Given the description of an element on the screen output the (x, y) to click on. 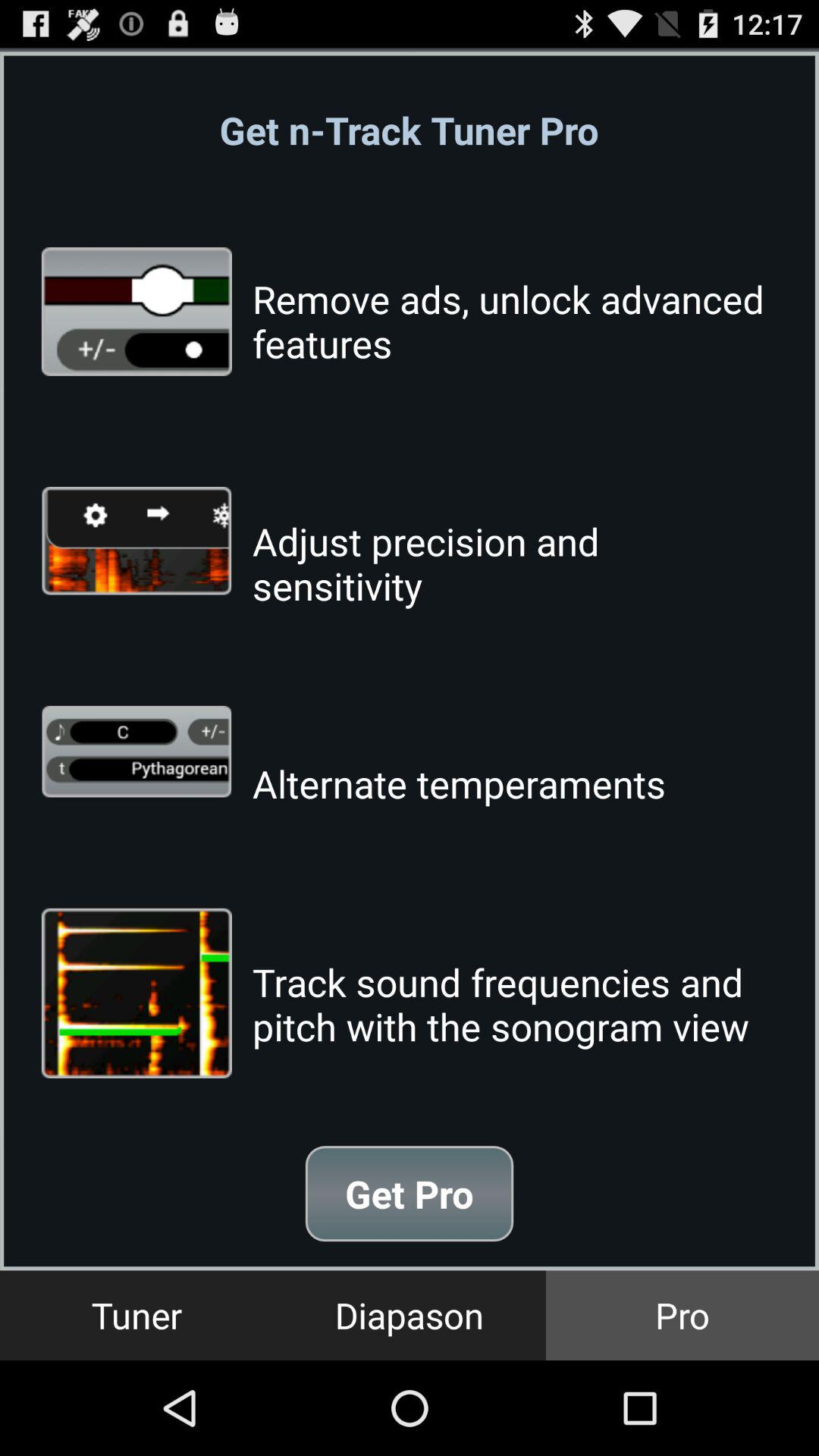
tap the diapason (409, 1315)
